Given the description of an element on the screen output the (x, y) to click on. 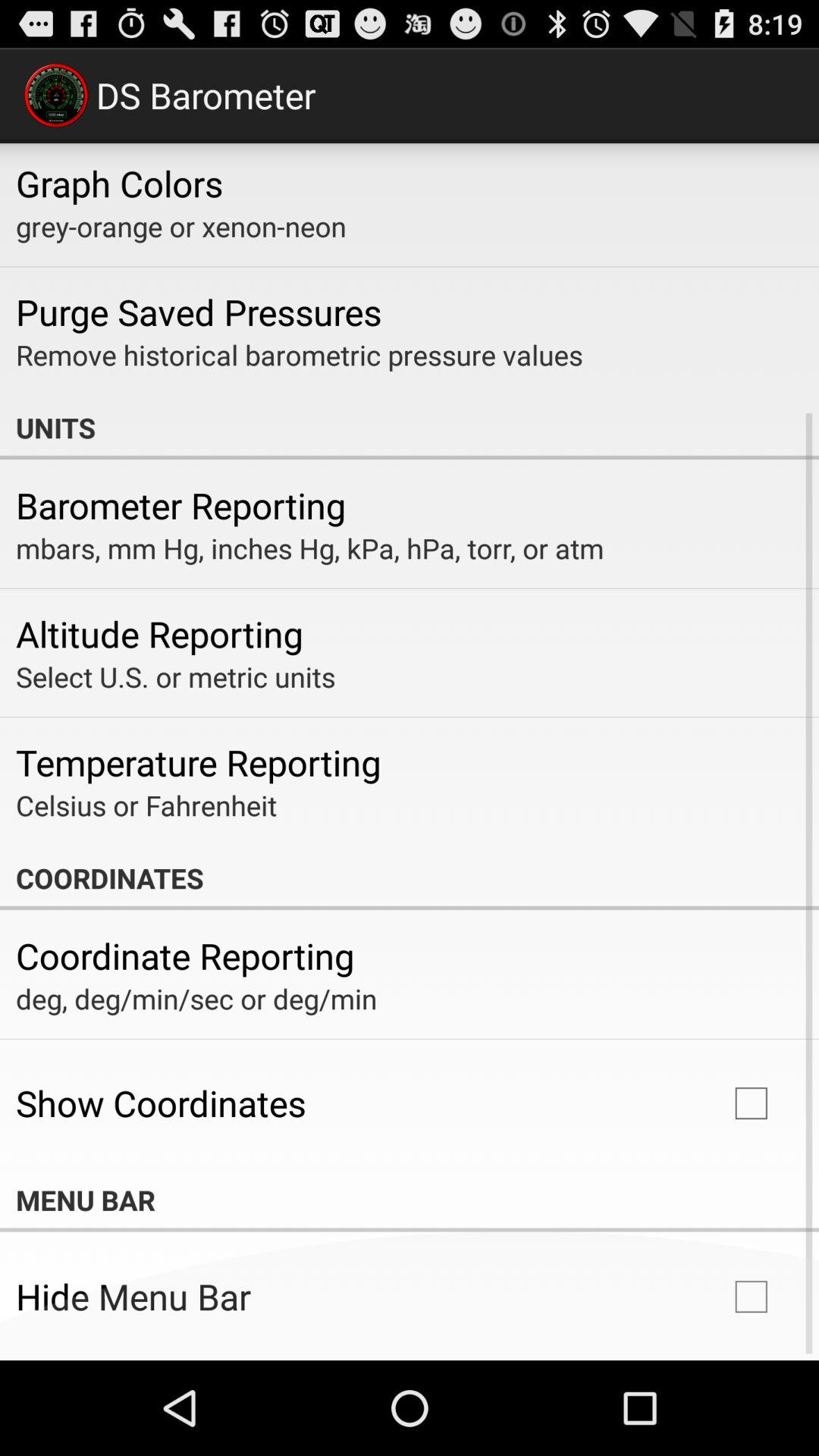
swipe until altitude reporting (159, 633)
